Given the description of an element on the screen output the (x, y) to click on. 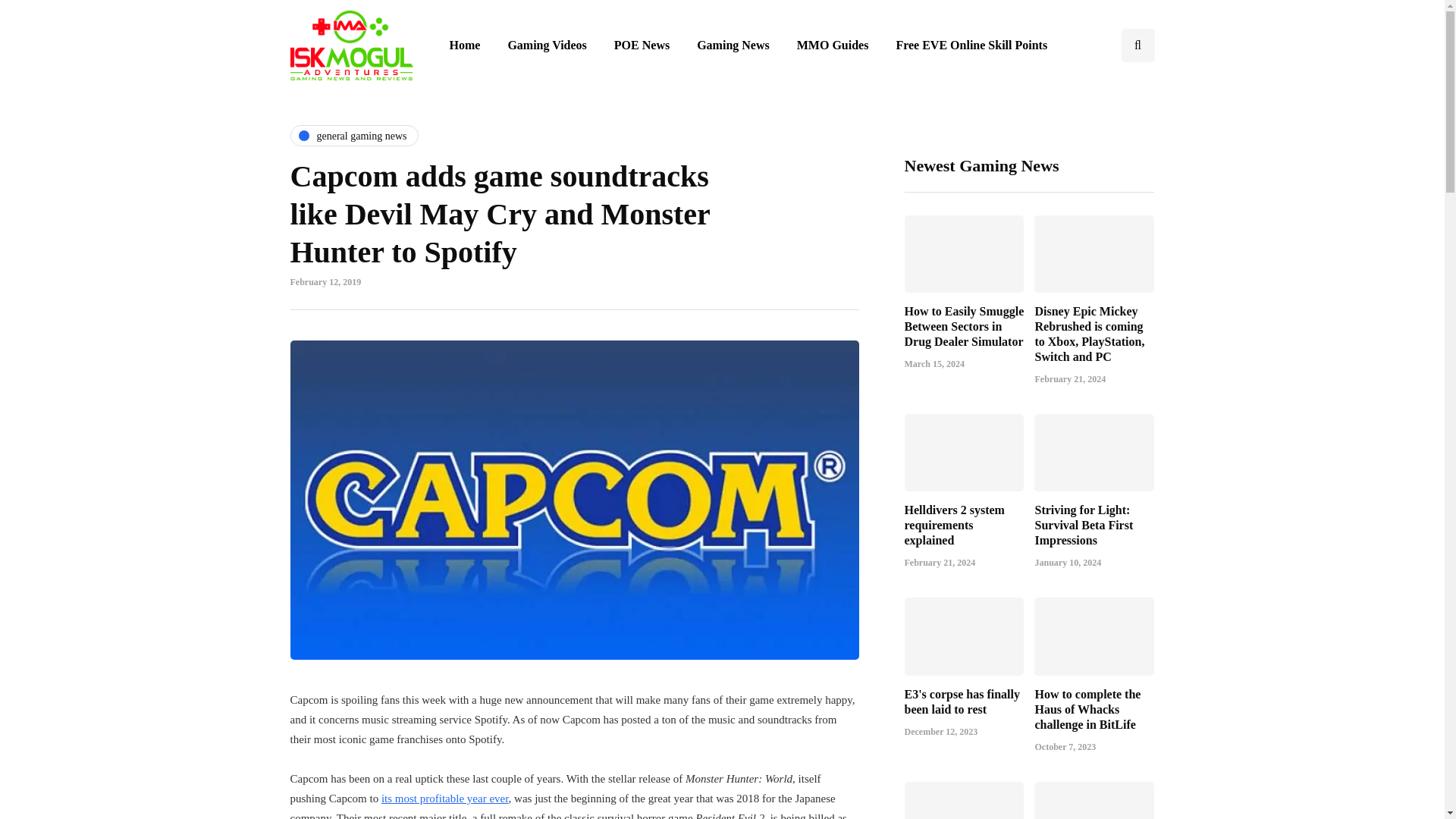
MMO Guides (832, 45)
Home (464, 45)
POE News (640, 45)
its most profitable year ever (444, 798)
Gaming Videos (546, 45)
Free EVE Online Skill Points (971, 45)
Gaming News (732, 45)
general gaming news (354, 135)
